Given the description of an element on the screen output the (x, y) to click on. 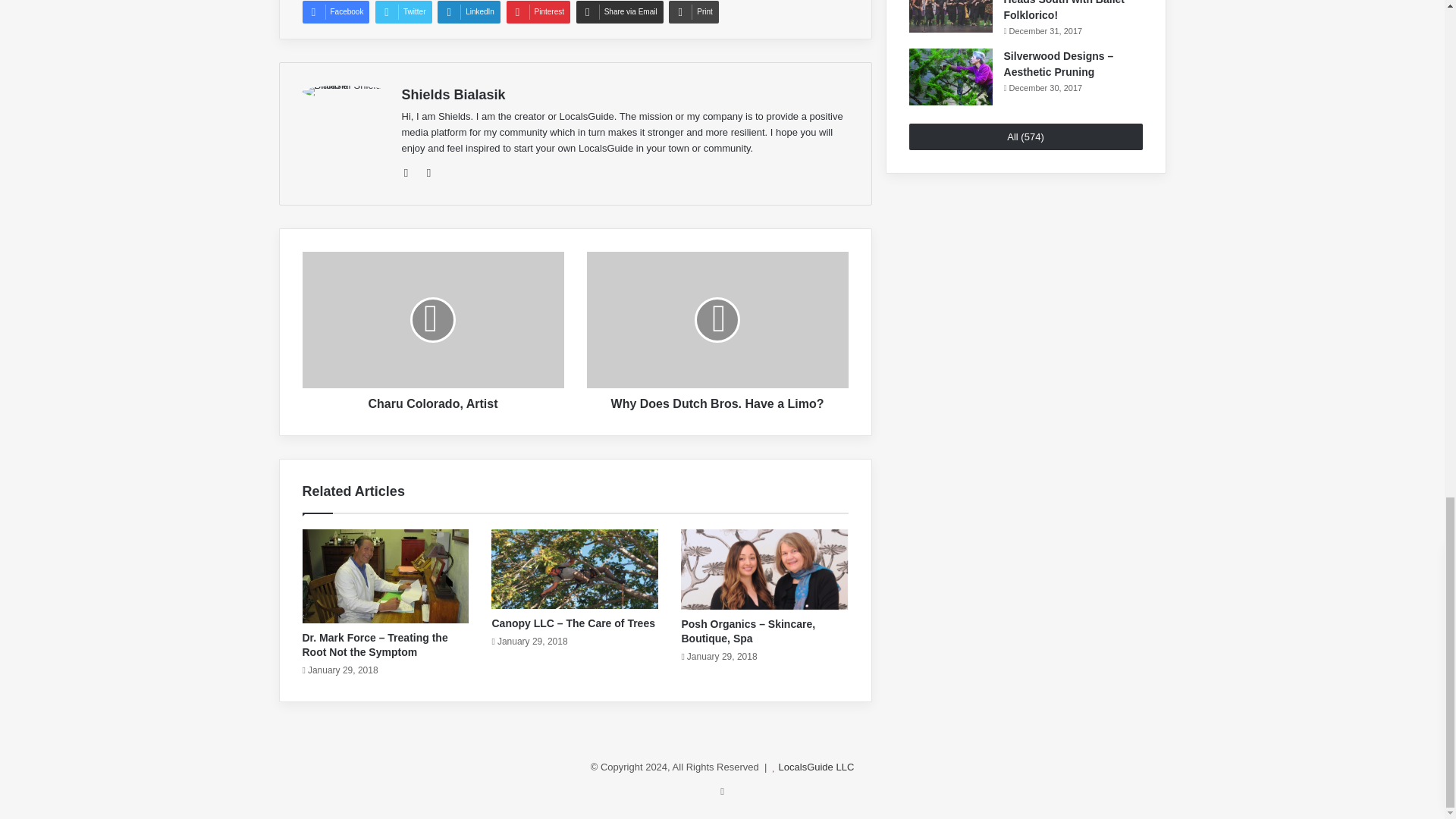
Print (693, 11)
Print (693, 11)
Share via Email (619, 11)
Facebook (429, 172)
LinkedIn (469, 11)
Facebook (335, 11)
Charu Colorado, Artist (432, 400)
Twitter (402, 11)
Shields Bialasik (453, 94)
Website (410, 172)
Facebook (335, 11)
Share via Email (619, 11)
LinkedIn (469, 11)
Why Does Dutch Bros. Have a Limo? (717, 400)
Pinterest (538, 11)
